Given the description of an element on the screen output the (x, y) to click on. 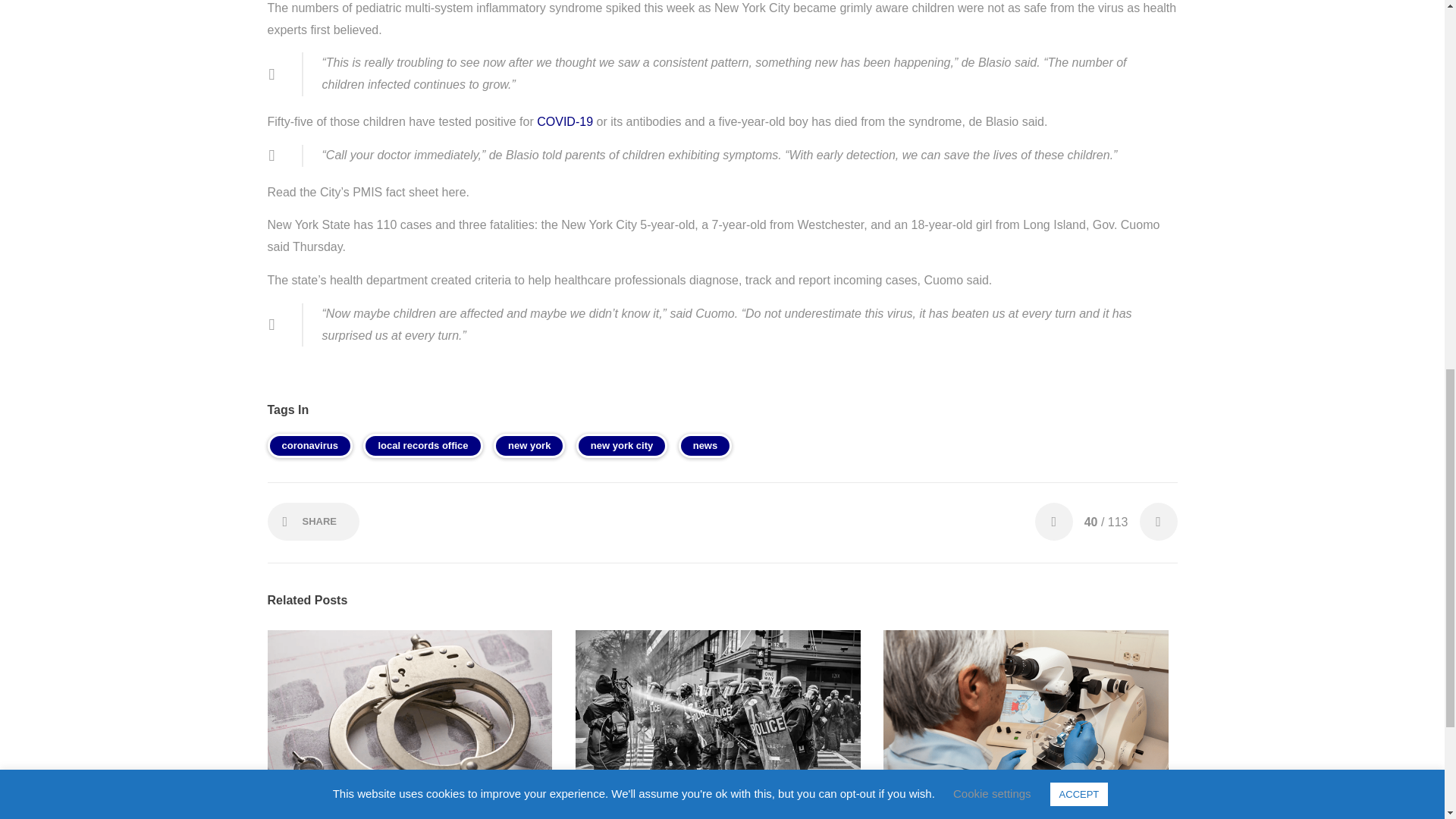
new york (528, 445)
new york city (621, 445)
COVID-19 (564, 121)
coronavirus (309, 445)
local records office (421, 445)
